Given the description of an element on the screen output the (x, y) to click on. 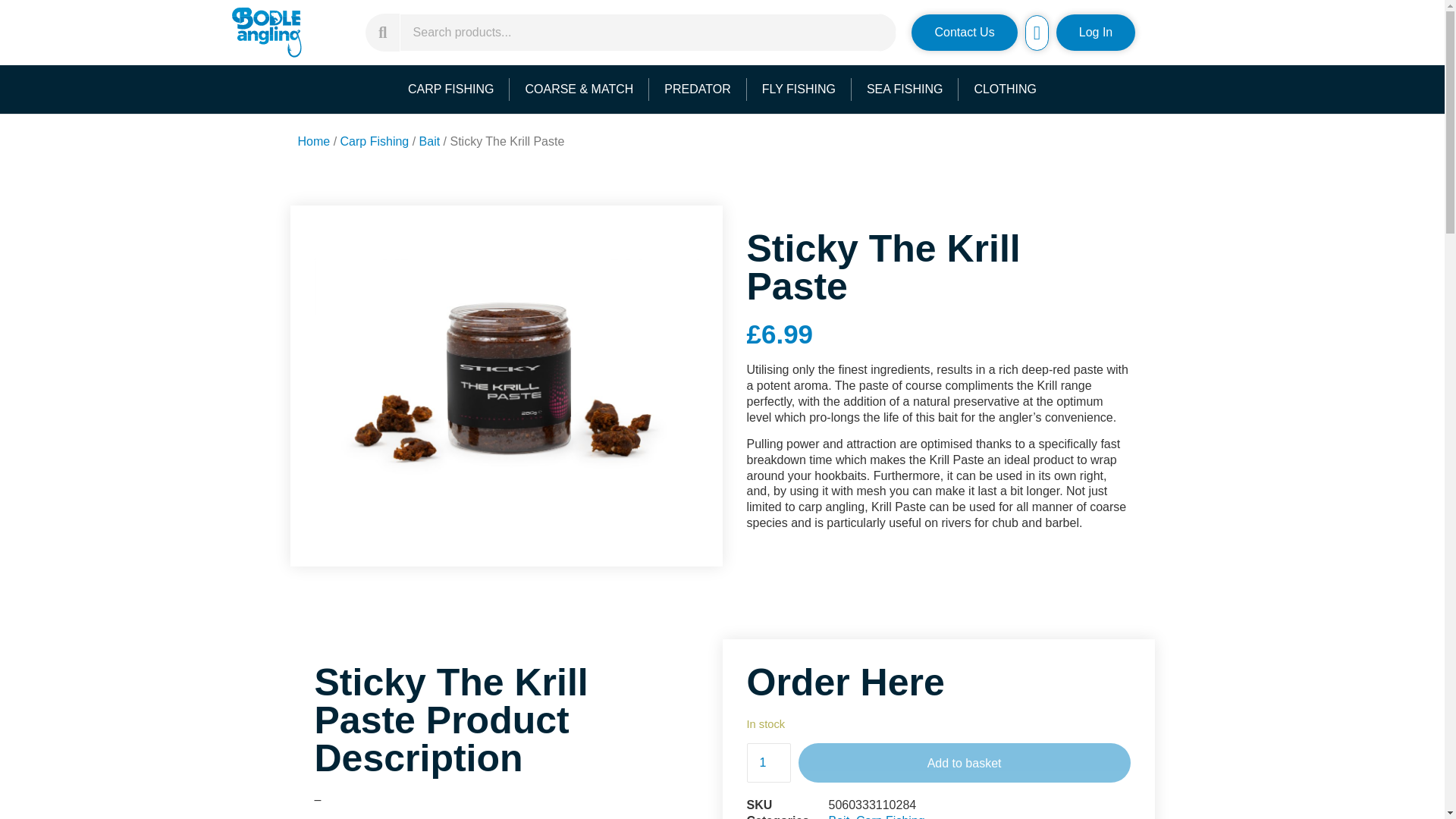
Sea Fishing (904, 89)
Log In (1096, 32)
1 (767, 762)
Contact Us (963, 32)
CARP FISHING (451, 89)
